Given the description of an element on the screen output the (x, y) to click on. 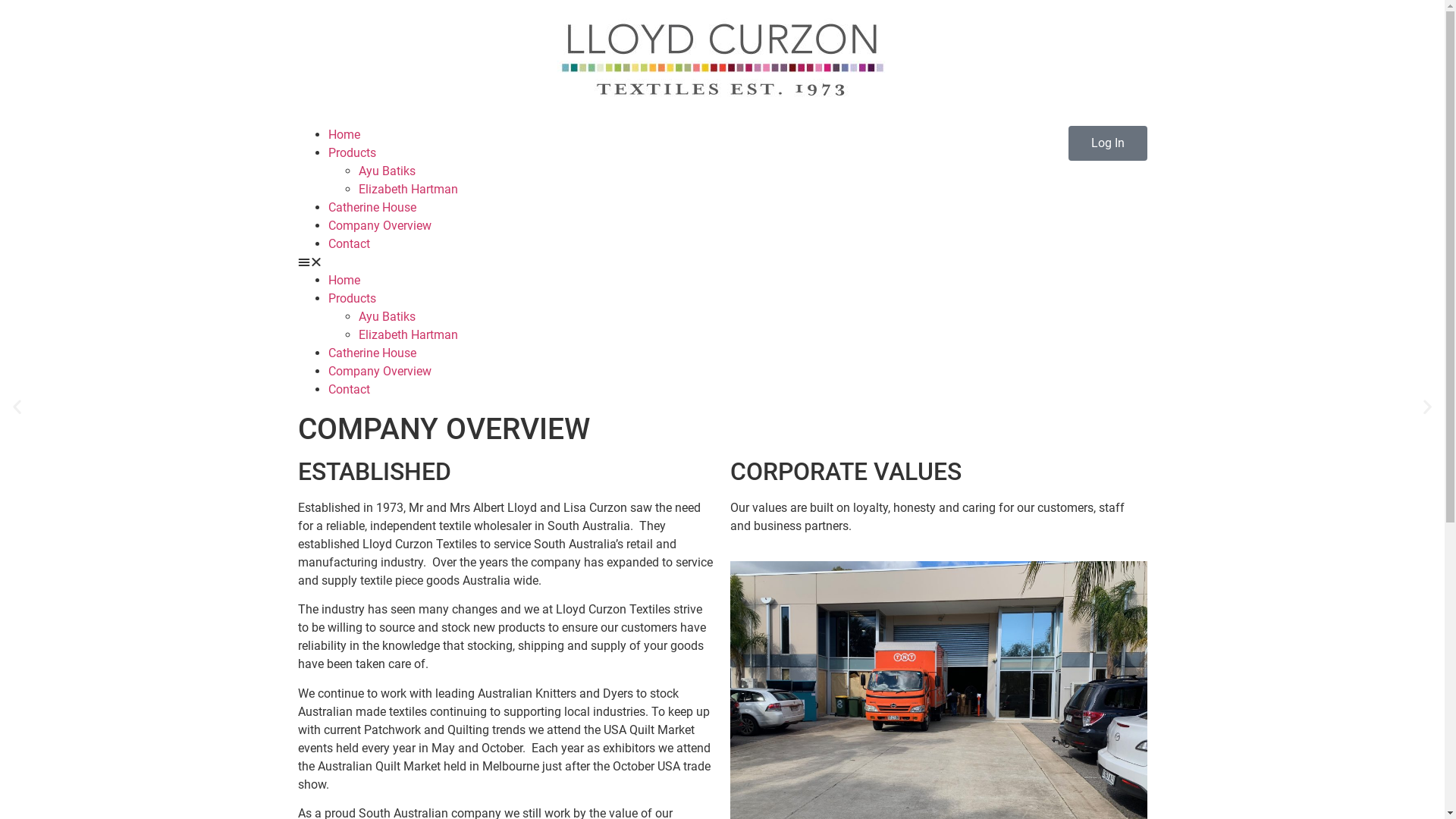
Log In Element type: text (1106, 142)
Home Element type: text (343, 134)
Print Element type: hover (721, 59)
Catherine House Element type: text (371, 352)
Contact Element type: text (348, 243)
Ayu Batiks Element type: text (385, 170)
Company Overview Element type: text (378, 225)
Elizabeth Hartman Element type: text (407, 334)
Home Element type: text (343, 280)
Ayu Batiks Element type: text (385, 316)
Company Overview Element type: text (378, 371)
Catherine House Element type: text (371, 207)
Products Element type: text (351, 152)
Products Element type: text (351, 298)
Elizabeth Hartman Element type: text (407, 189)
Contact Element type: text (348, 389)
